Given the description of an element on the screen output the (x, y) to click on. 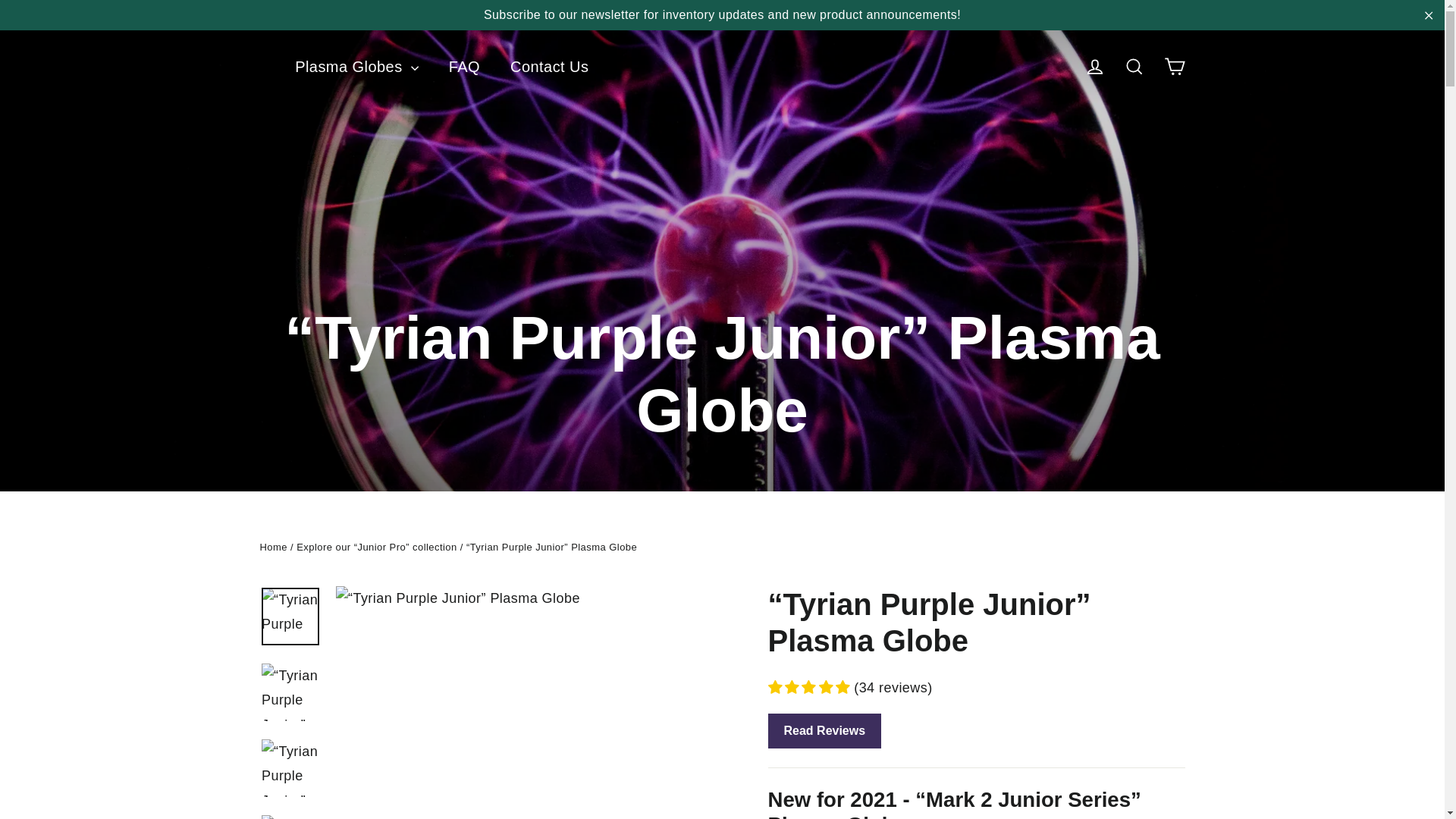
Back to the frontpage (272, 546)
Cart (1173, 66)
FAQ (464, 66)
Plasma Globes (355, 66)
Contact Us (549, 66)
Search (1134, 66)
Log in (1095, 66)
